Given the description of an element on the screen output the (x, y) to click on. 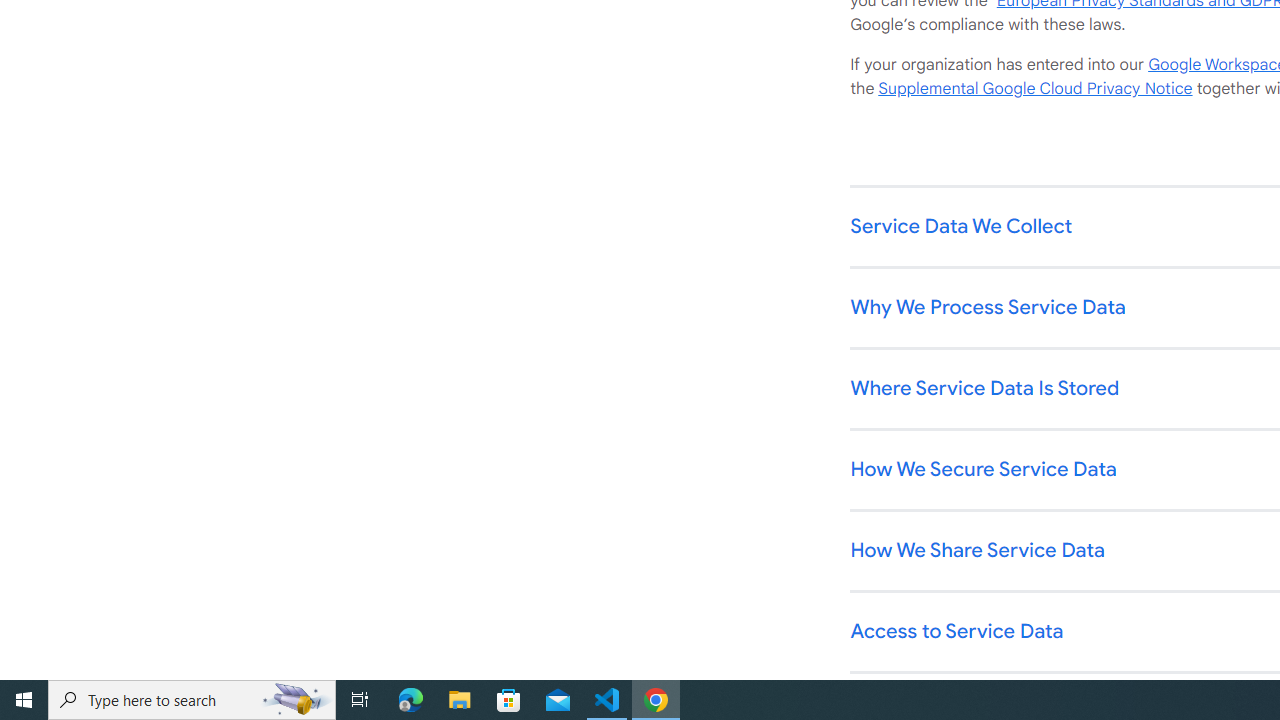
Supplemental Google Cloud Privacy Notice (1035, 89)
